Given the description of an element on the screen output the (x, y) to click on. 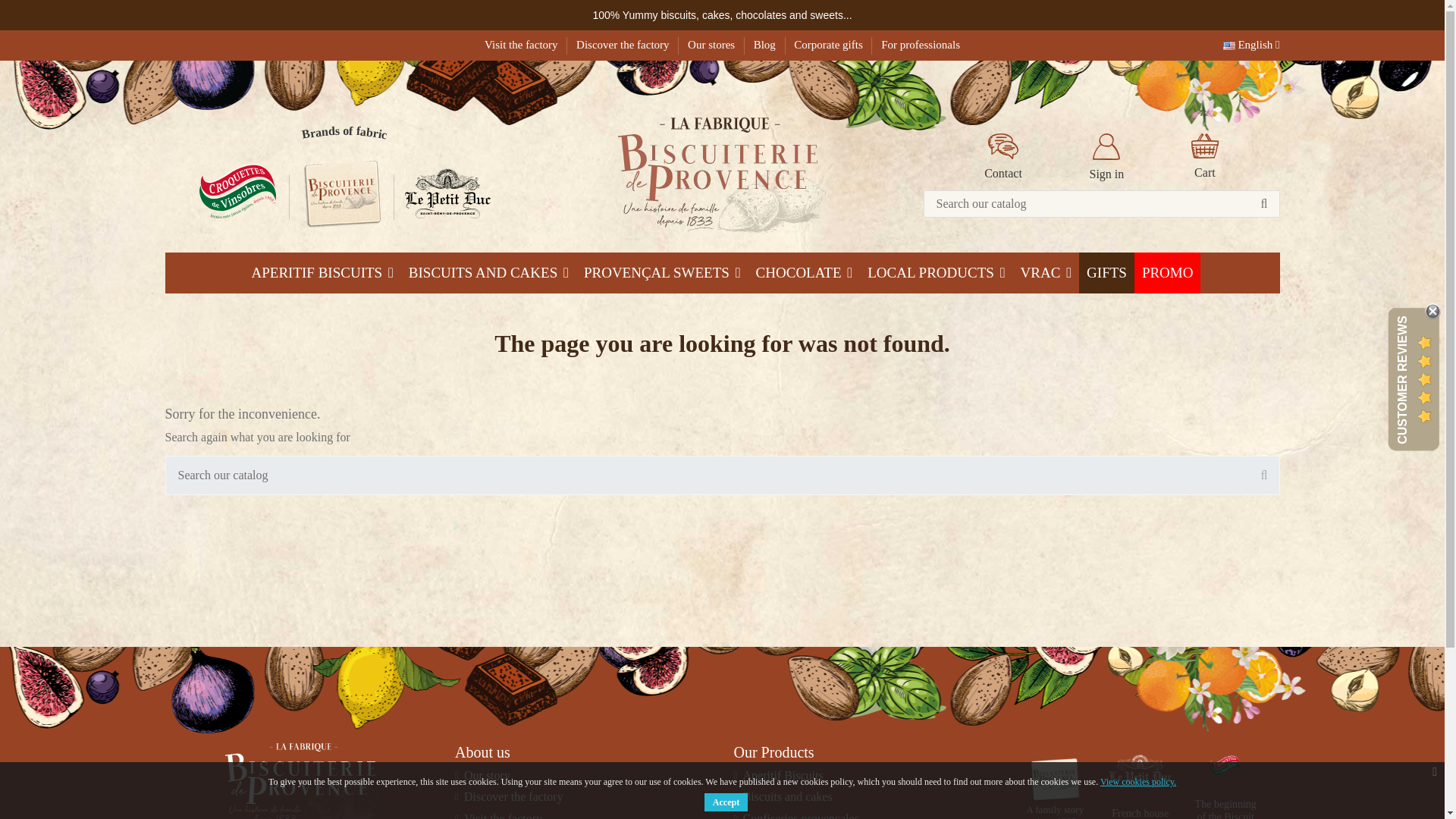
Blog (766, 44)
BISCUITS AND CAKES (488, 272)
Our stores (712, 44)
English (1251, 44)
Visit the factory (522, 44)
APERITIF BISCUITS (322, 272)
Corporate gifts (828, 44)
For professionals (919, 44)
Discover the factory (623, 44)
